Given the description of an element on the screen output the (x, y) to click on. 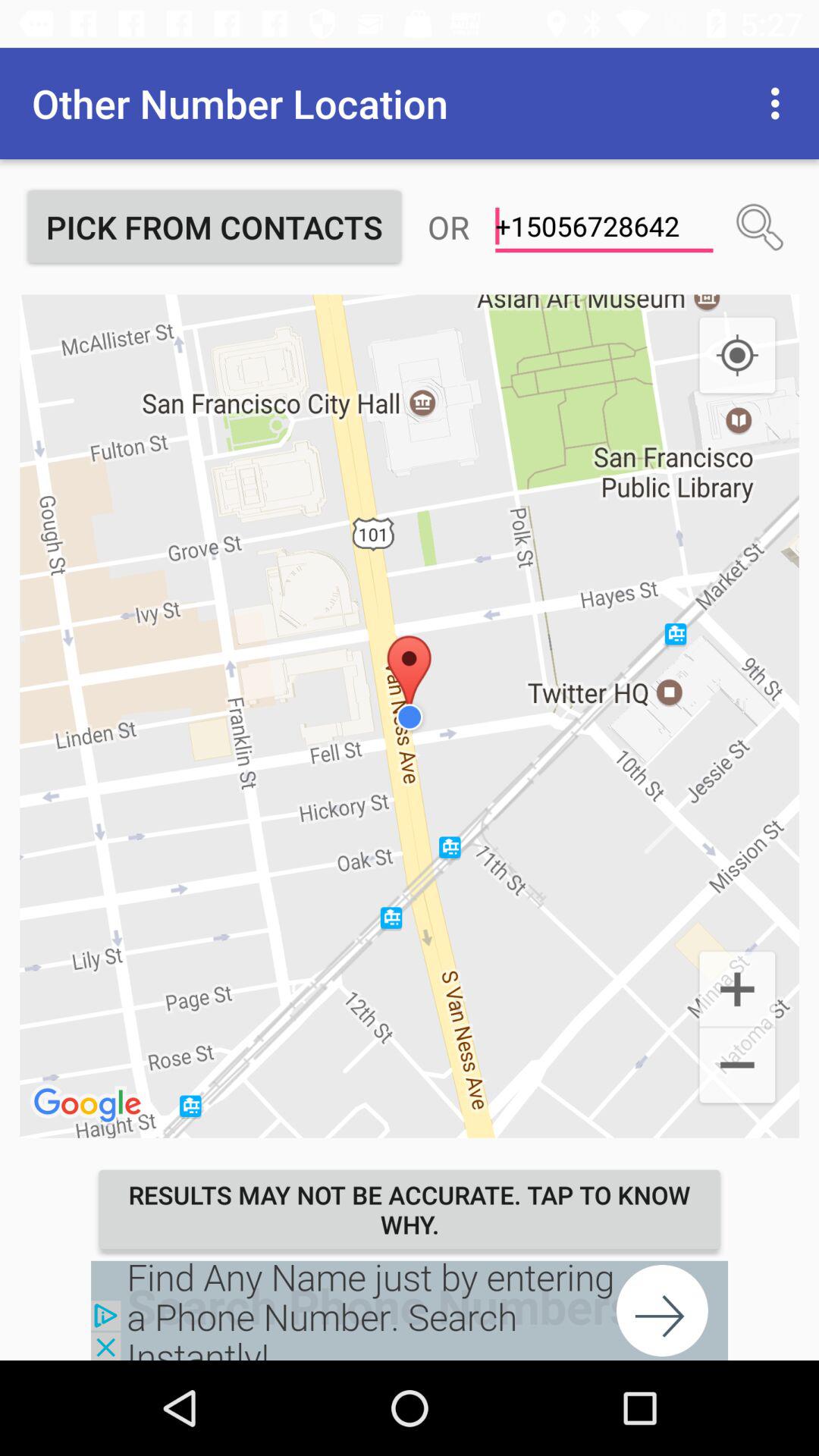
search by phone number (759, 226)
